Given the description of an element on the screen output the (x, y) to click on. 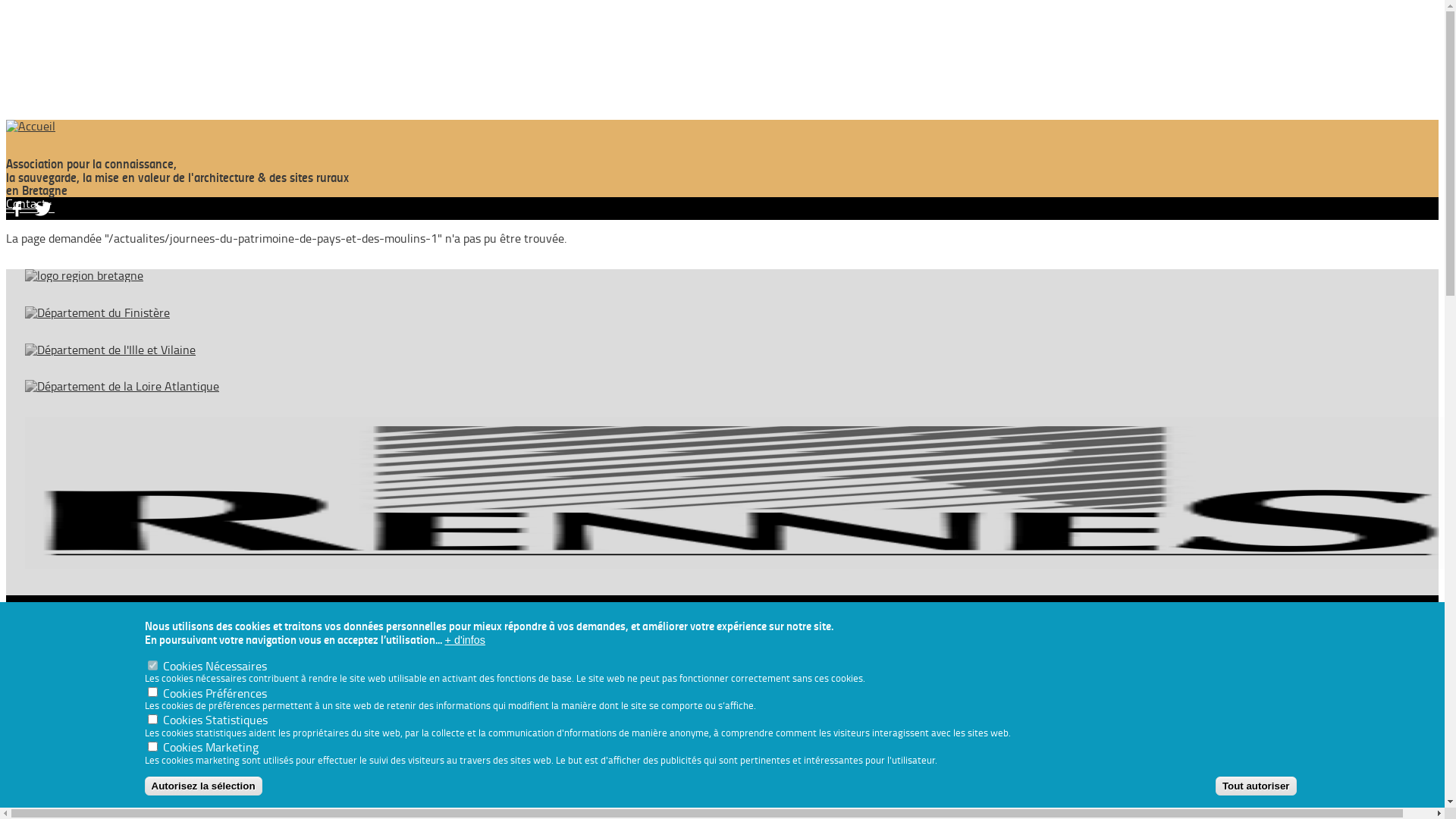
Accueil Element type: hover (722, 125)
Page Facebook Tiez Breiz Element type: hover (18, 206)
Page Twitter Tiez Breiz Element type: hover (42, 206)
Tout autoriser Element type: text (1255, 785)
Aller au contenu principal Element type: text (6, 119)
+ d'infos Element type: text (464, 639)
Contact Element type: text (26, 203)
